Given the description of an element on the screen output the (x, y) to click on. 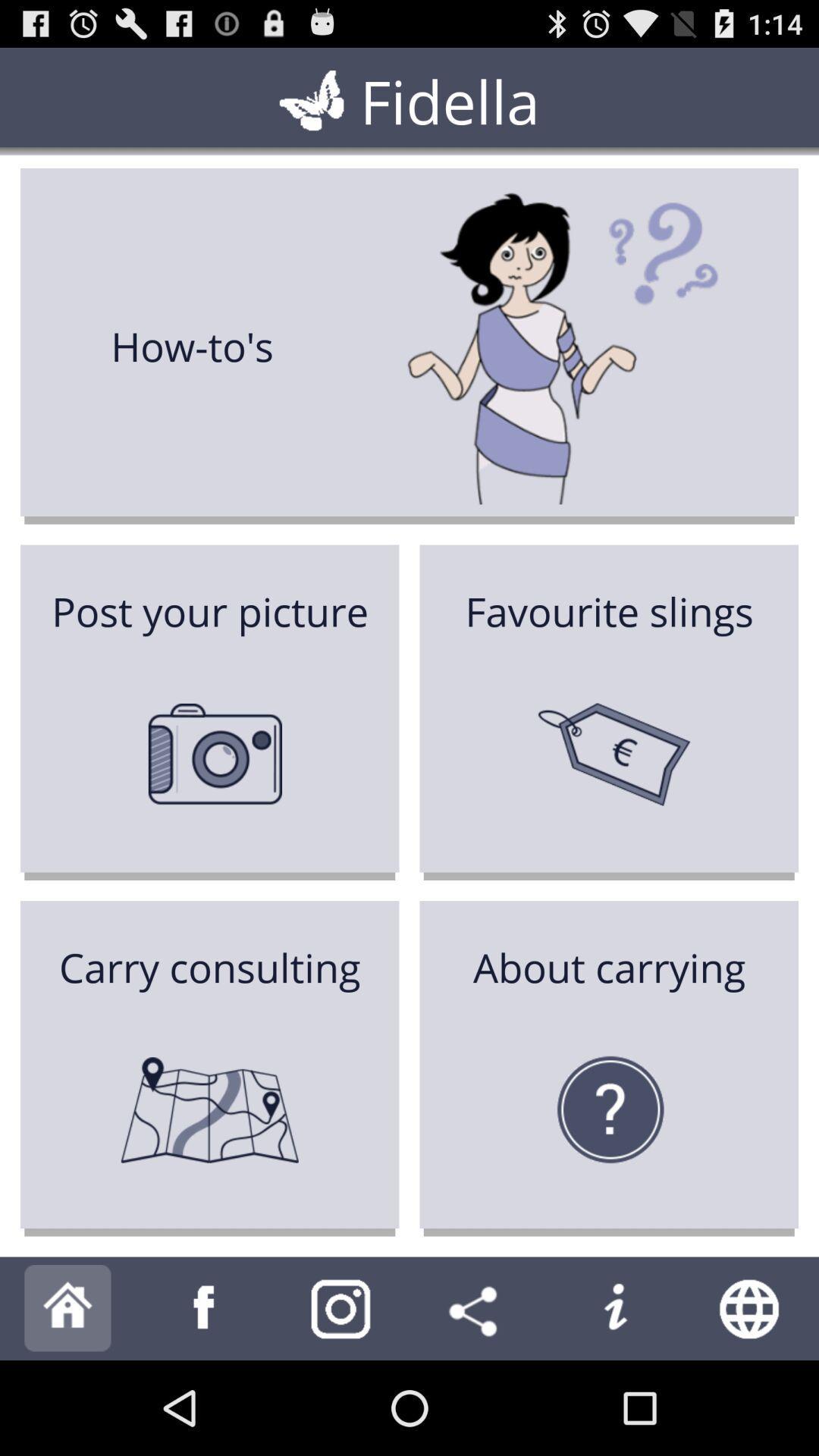
share in other social media (477, 1308)
